Given the description of an element on the screen output the (x, y) to click on. 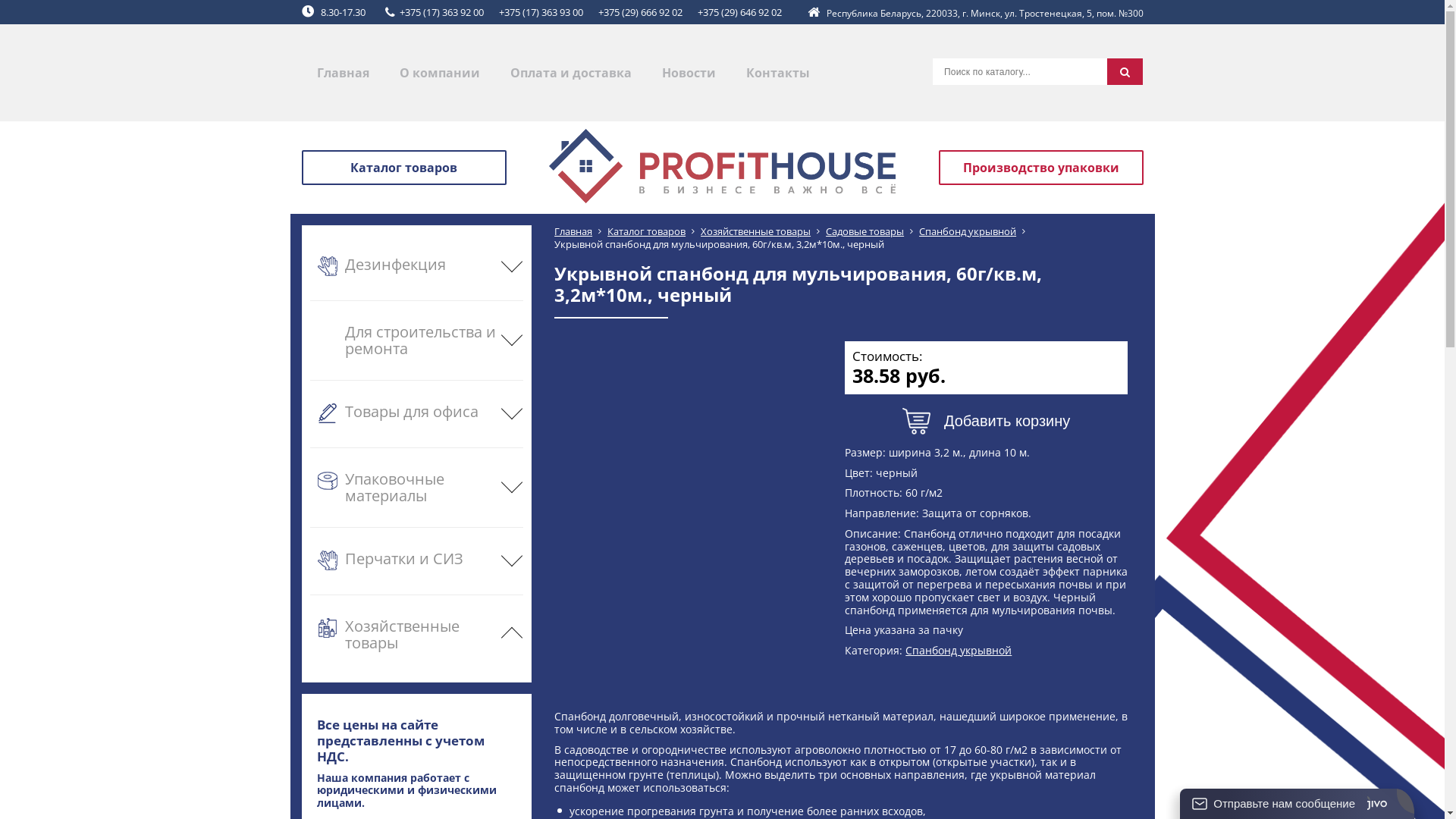
+375 (17) 363 93 00 Element type: text (540, 12)
+375 (17) 363 92 00 Element type: text (440, 12)
+375 (29) 646 92 02 Element type: text (739, 12)
+375 (29) 666 92 02 Element type: text (639, 12)
Search Element type: text (1124, 71)
